Given the description of an element on the screen output the (x, y) to click on. 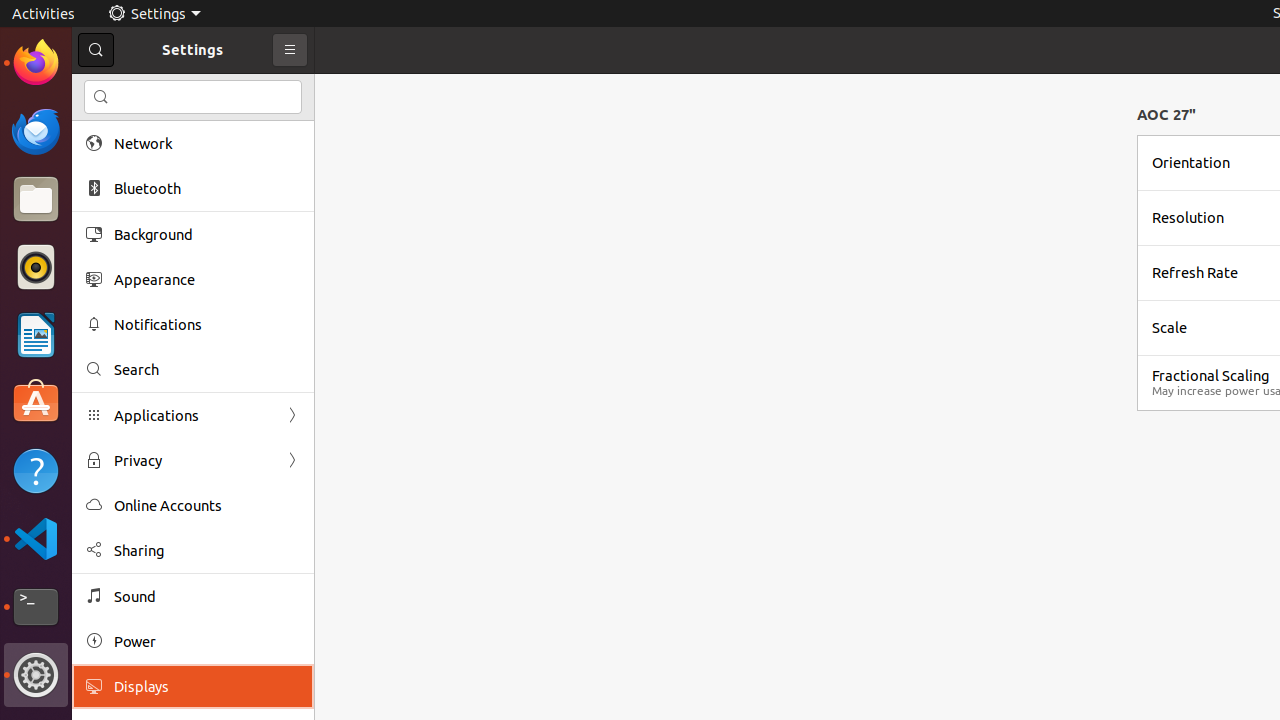
luyi1 Element type: label (133, 89)
Sharing Element type: label (207, 550)
Displays Element type: label (207, 686)
edit-find-symbolic Element type: icon (101, 97)
Orientation Element type: label (1191, 162)
